Given the description of an element on the screen output the (x, y) to click on. 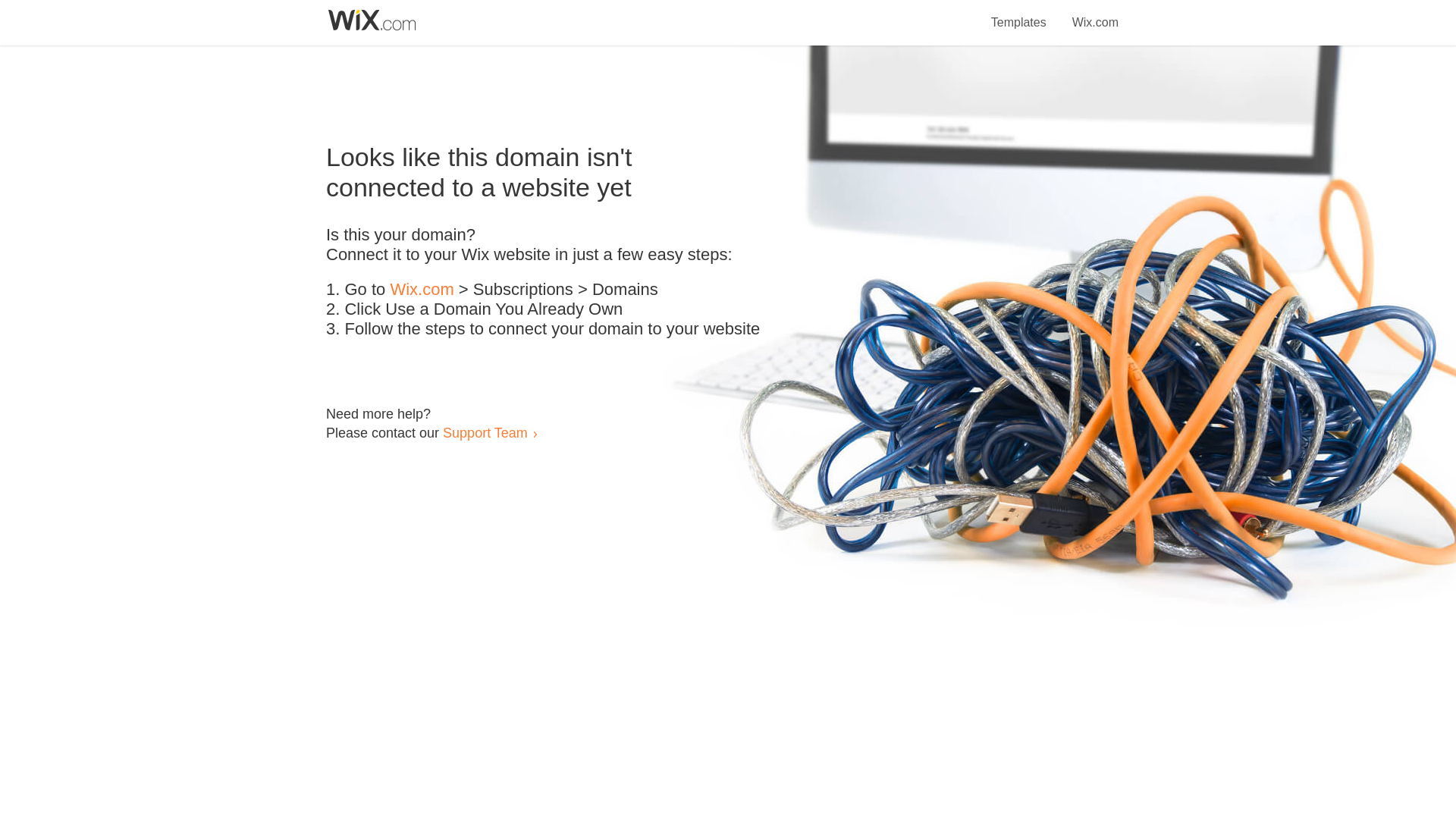
Support Team (484, 432)
Wix.com (421, 289)
Wix.com (1095, 14)
Templates (1018, 14)
